Given the description of an element on the screen output the (x, y) to click on. 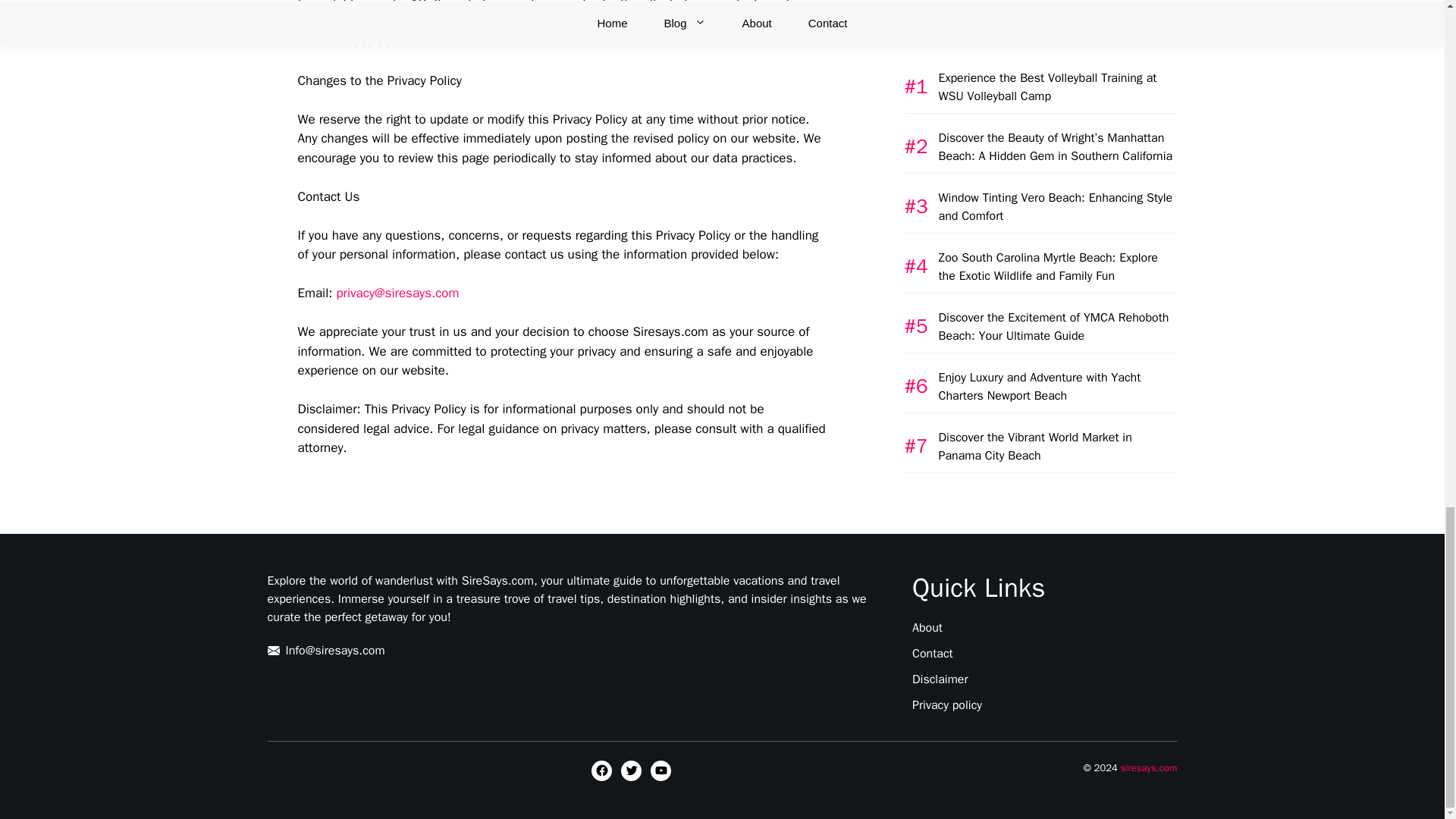
siresays.com (1149, 766)
Twitter (631, 770)
Privacy policy (946, 703)
YouTube (660, 770)
Contact (932, 652)
Facebook (601, 770)
About (927, 626)
Disclaimer (940, 678)
